Given the description of an element on the screen output the (x, y) to click on. 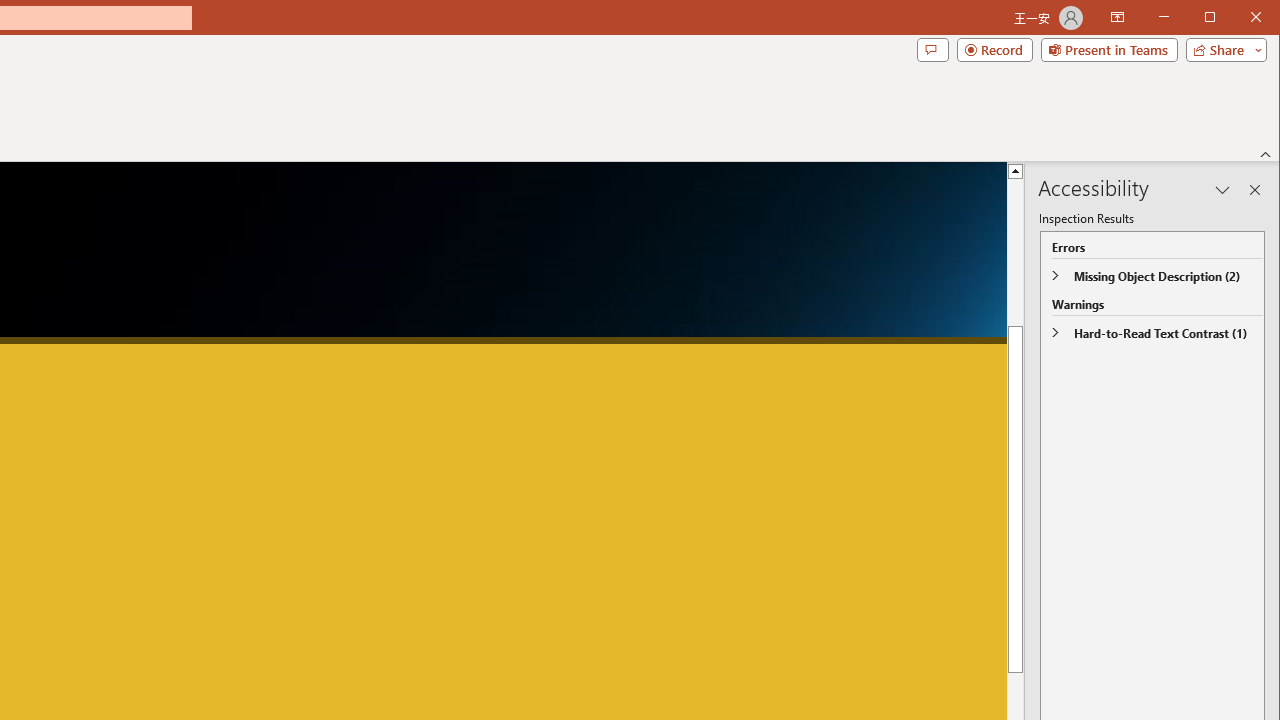
Maximize (1238, 18)
